Given the description of an element on the screen output the (x, y) to click on. 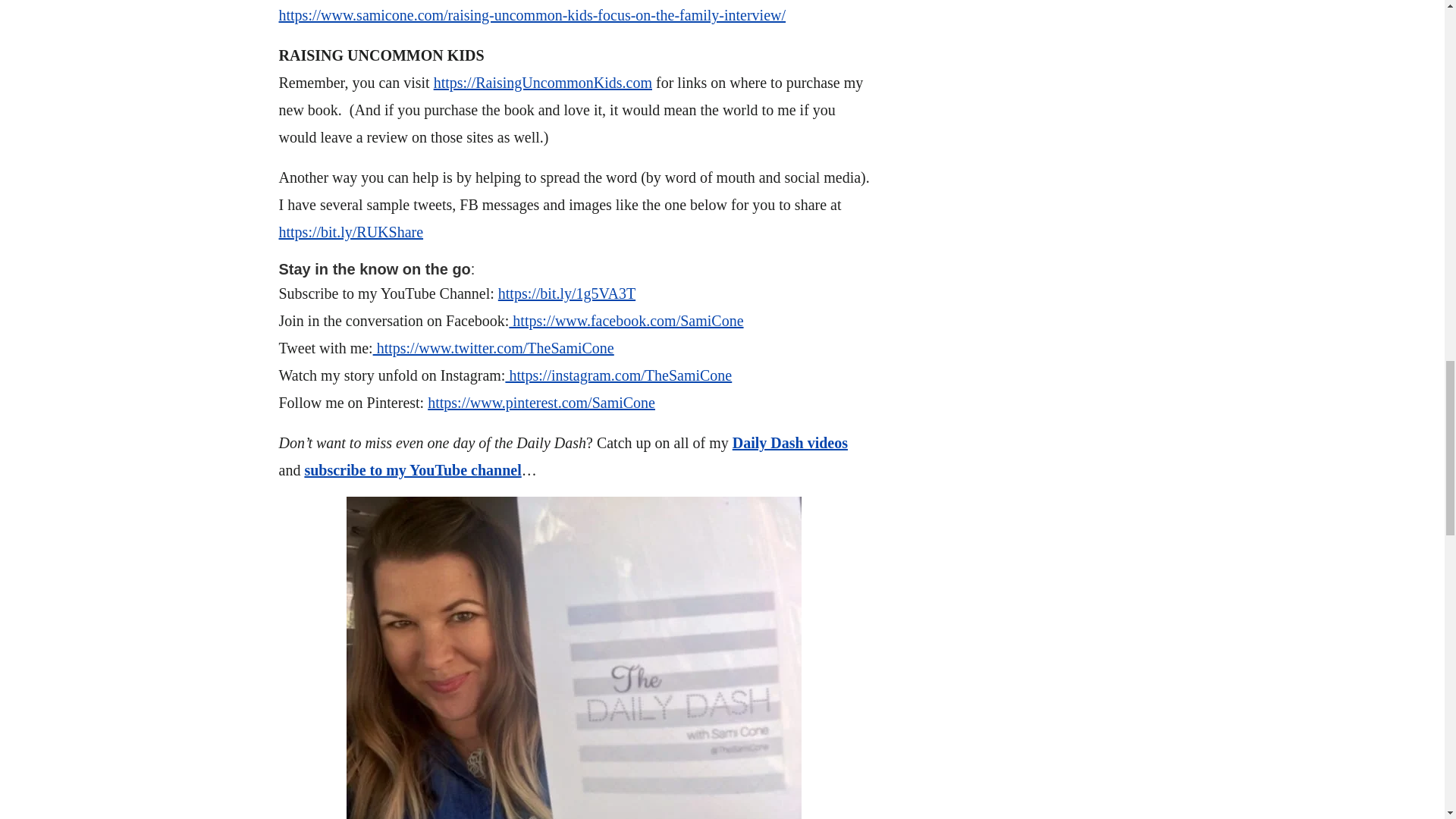
daily-dash-videos (789, 442)
